Given the description of an element on the screen output the (x, y) to click on. 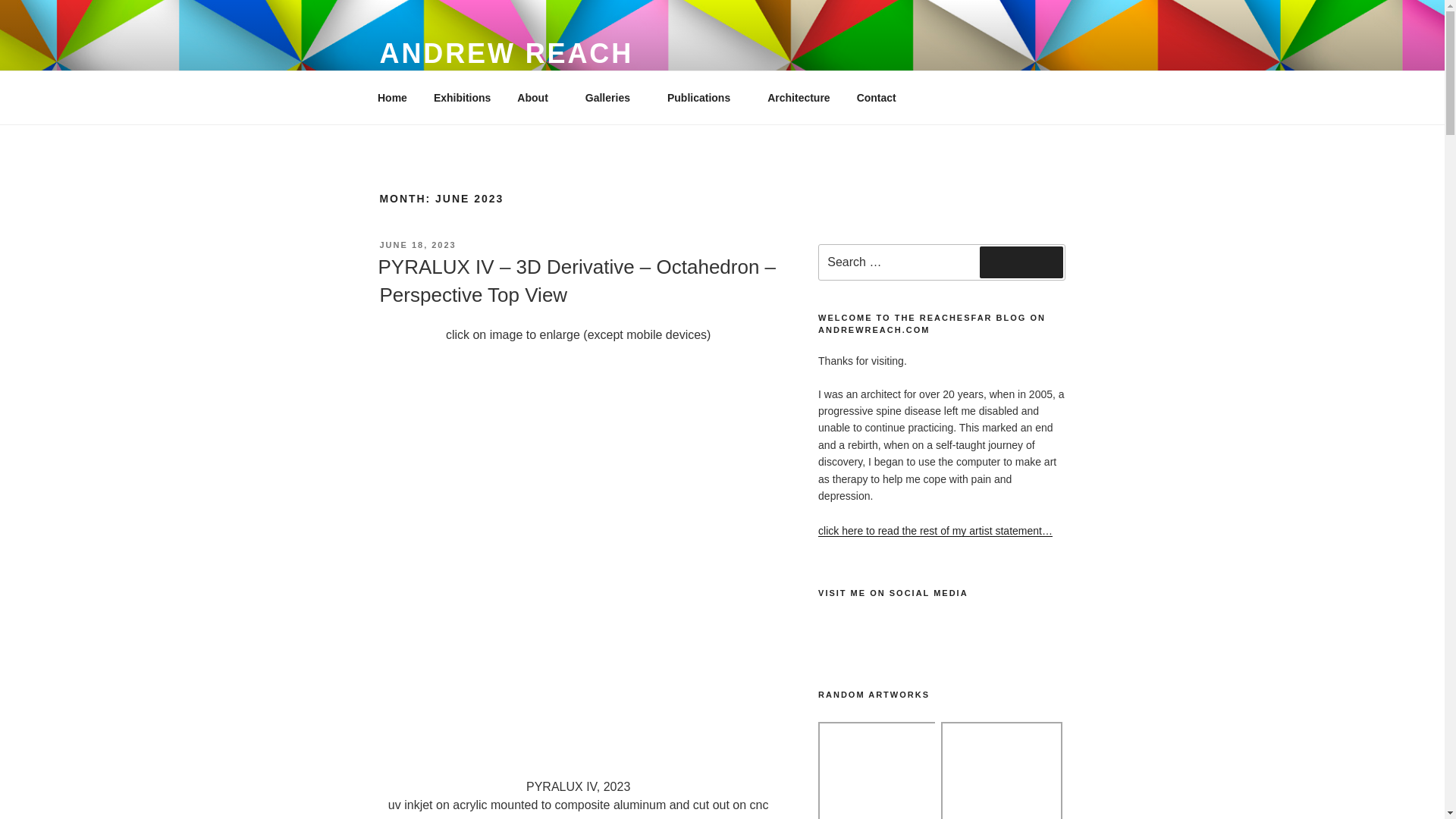
Contact (875, 97)
About (537, 97)
Facebook (836, 634)
Galleries (612, 97)
JUNE 18, 2023 (416, 244)
Exhibitions (461, 97)
Architecture (798, 97)
Publications (703, 97)
Home (392, 97)
Pinterest (871, 634)
ANDREW REACH (505, 52)
Flesh And Blood (878, 770)
Instagram (904, 634)
